Given the description of an element on the screen output the (x, y) to click on. 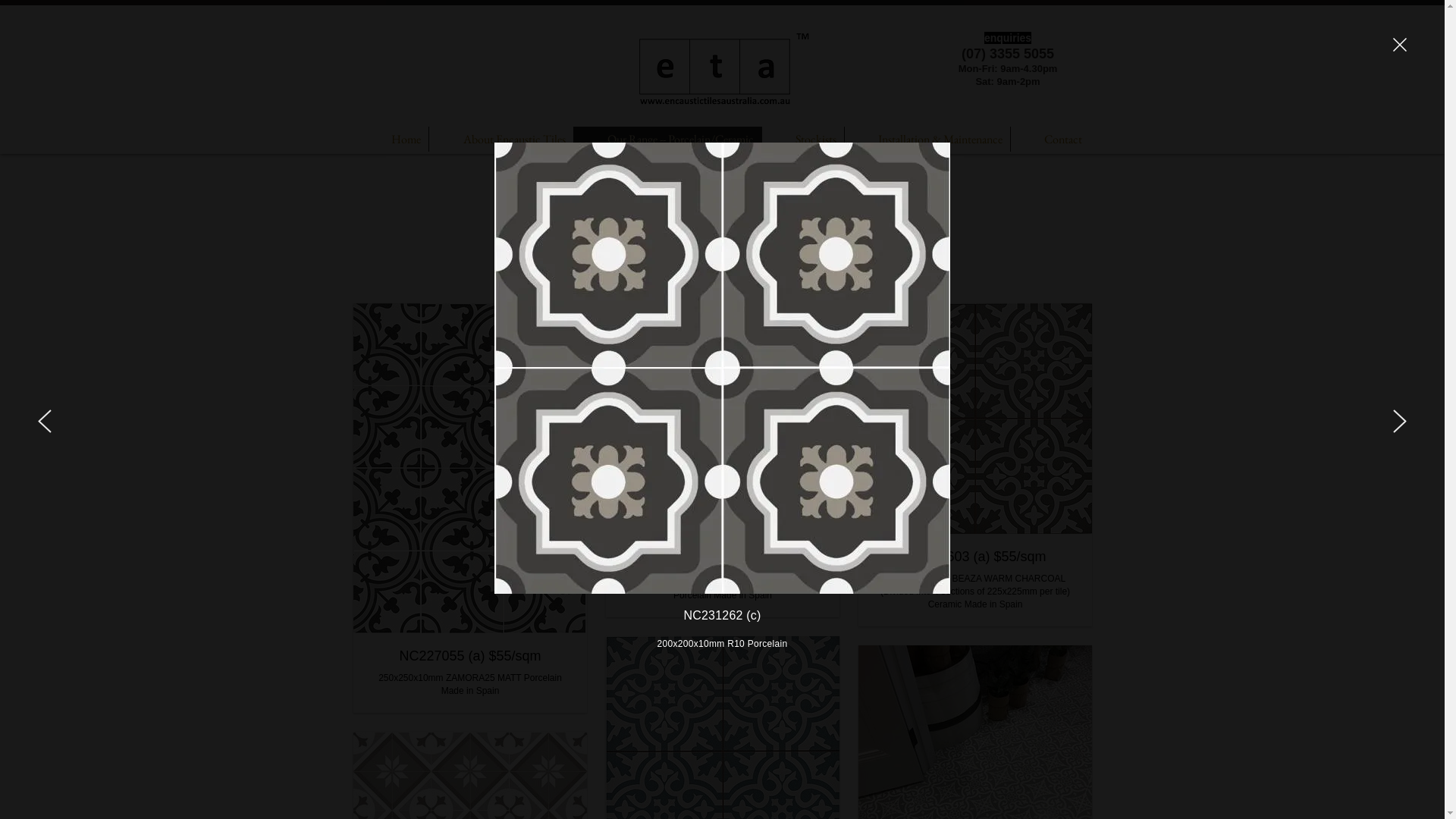
etalogo.jpg Element type: hover (723, 68)
Contact Element type: text (1049, 138)
Our Range -- Porcelain/Ceramic Element type: text (667, 138)
About Encaustic Tiles Element type: text (499, 138)
Installation & Maintenance Element type: text (926, 138)
Home Element type: text (391, 138)
Stockists Element type: text (802, 138)
